Given the description of an element on the screen output the (x, y) to click on. 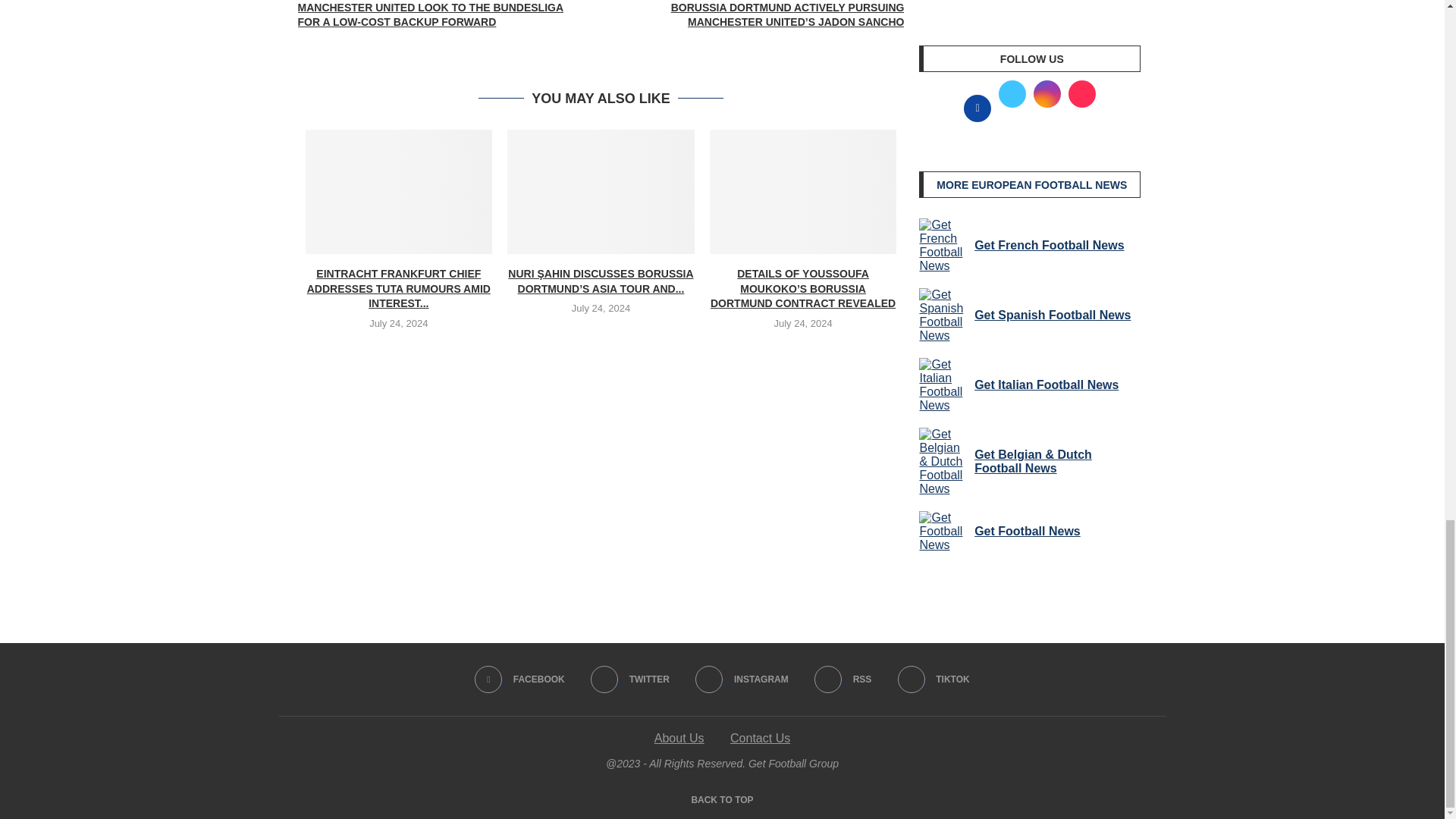
Get French Football News (943, 245)
Get Football News (943, 531)
Get Italian Football News (943, 384)
Get Spanish Football News (943, 315)
